Given the description of an element on the screen output the (x, y) to click on. 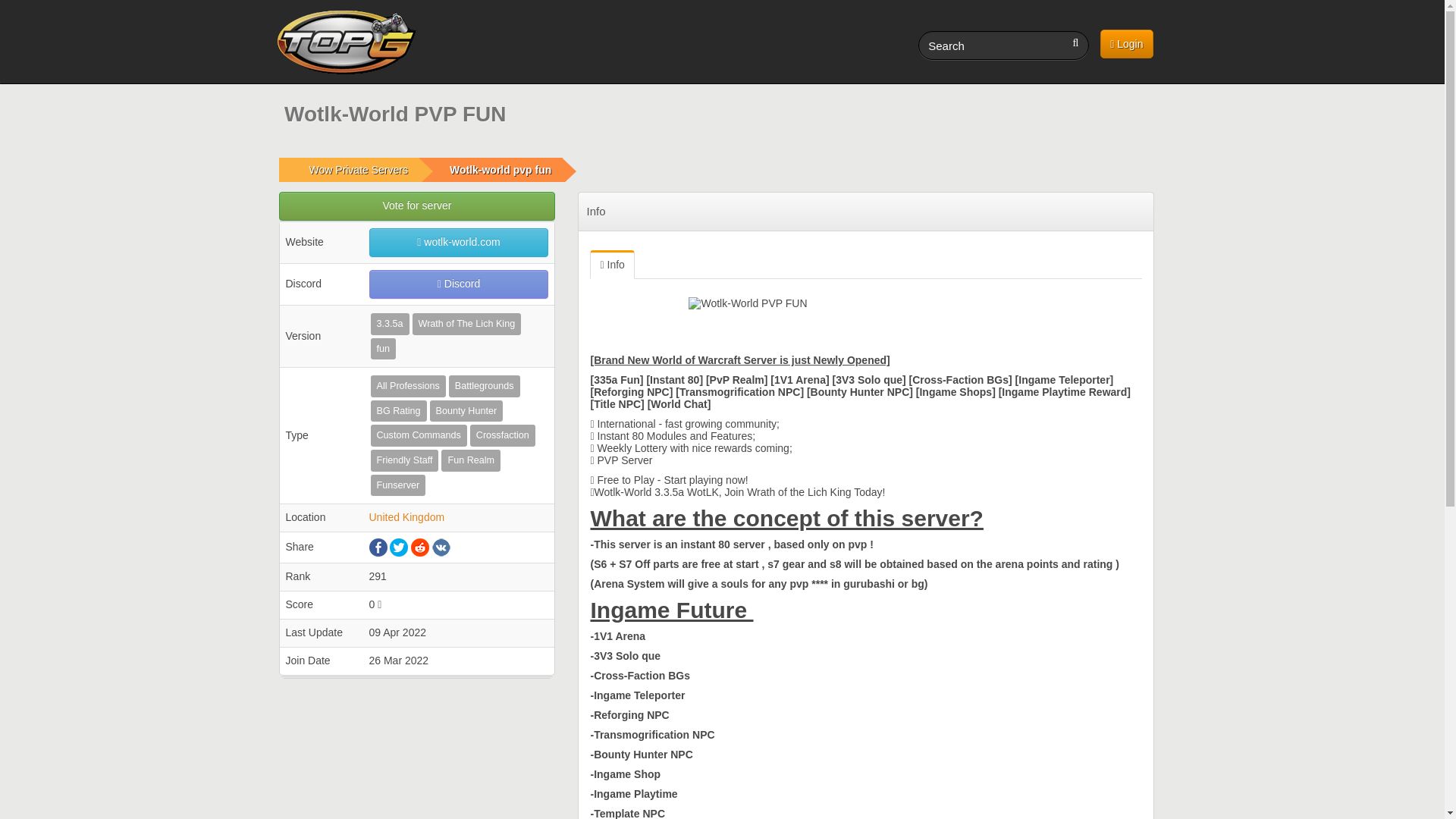
Login (1126, 43)
wotlk-world.com (458, 242)
Wotlk-world pvp fun (500, 169)
Wow Private Servers (357, 169)
Vote for server (417, 205)
TopG.org (344, 41)
Connect to Server Discord channel (458, 284)
Visit Website wotlk-world.com (458, 242)
Discord (458, 284)
United Kingdom (406, 517)
